Given the description of an element on the screen output the (x, y) to click on. 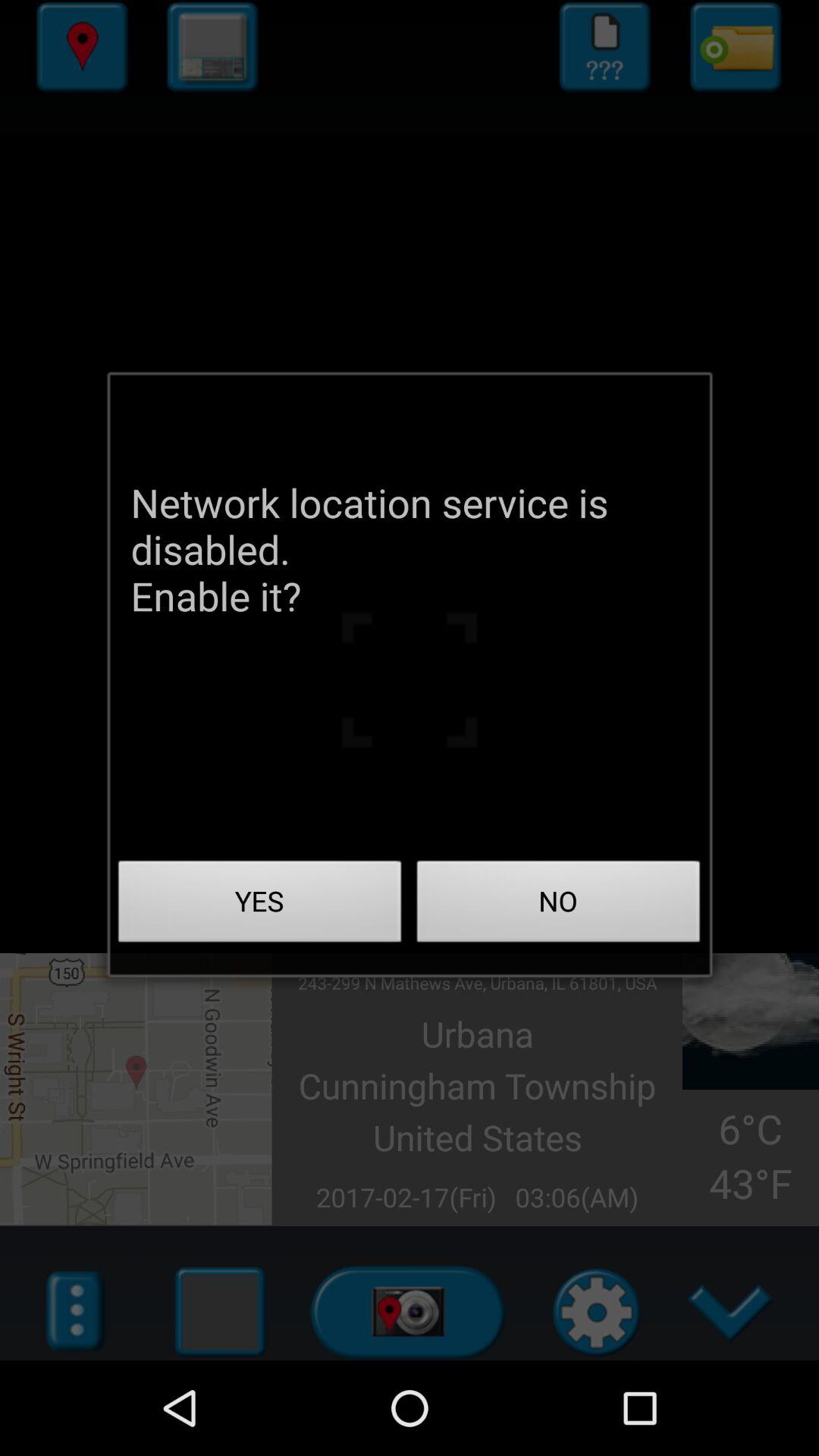
open icon to the right of the yes icon (558, 905)
